Given the description of an element on the screen output the (x, y) to click on. 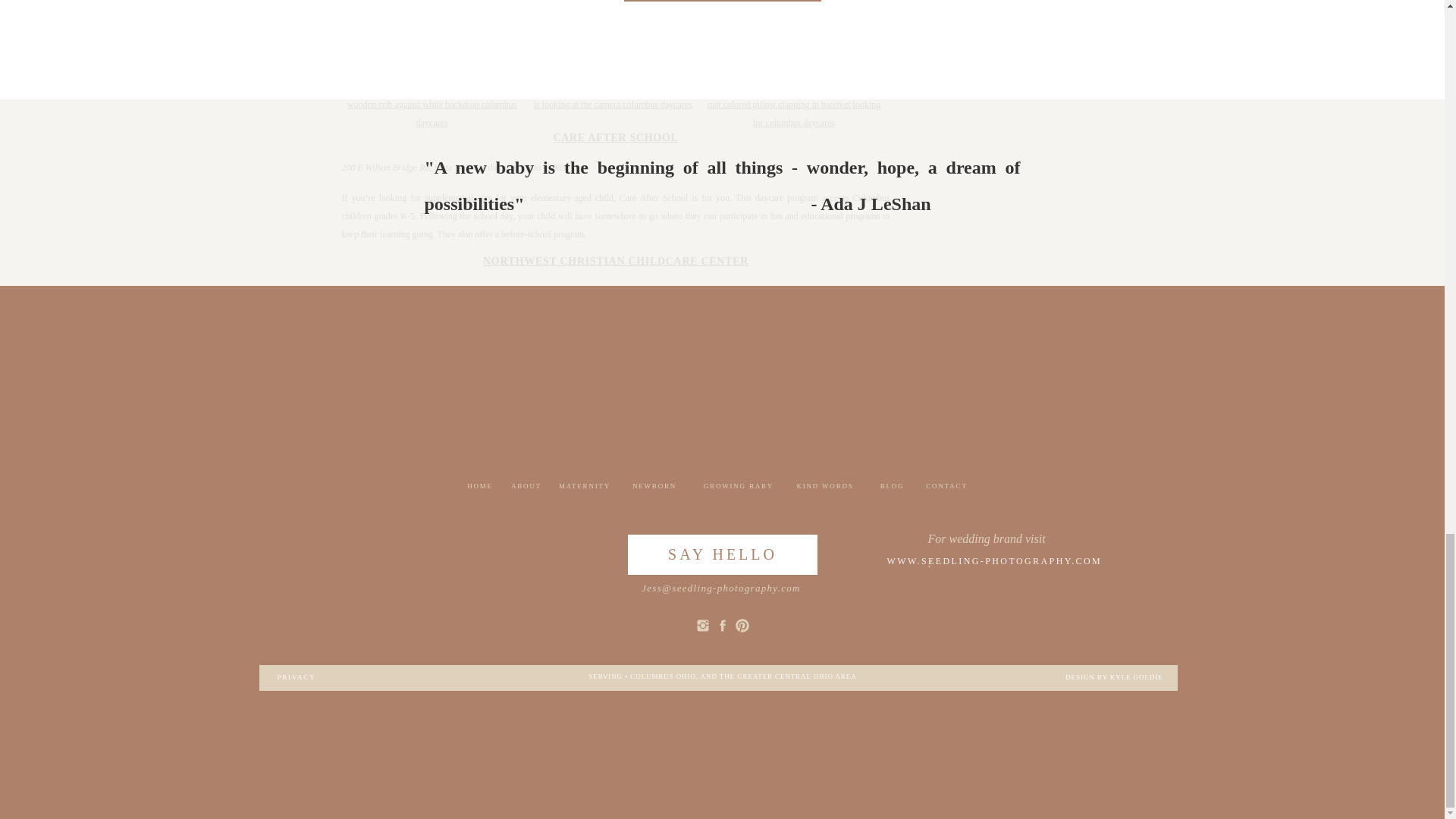
NORTHWEST CHRISTIAN CHILDCARE CENTER (615, 260)
CARE AFTER SCHOOL (615, 137)
GIGGLES AND GRINS (615, 383)
